Given the description of an element on the screen output the (x, y) to click on. 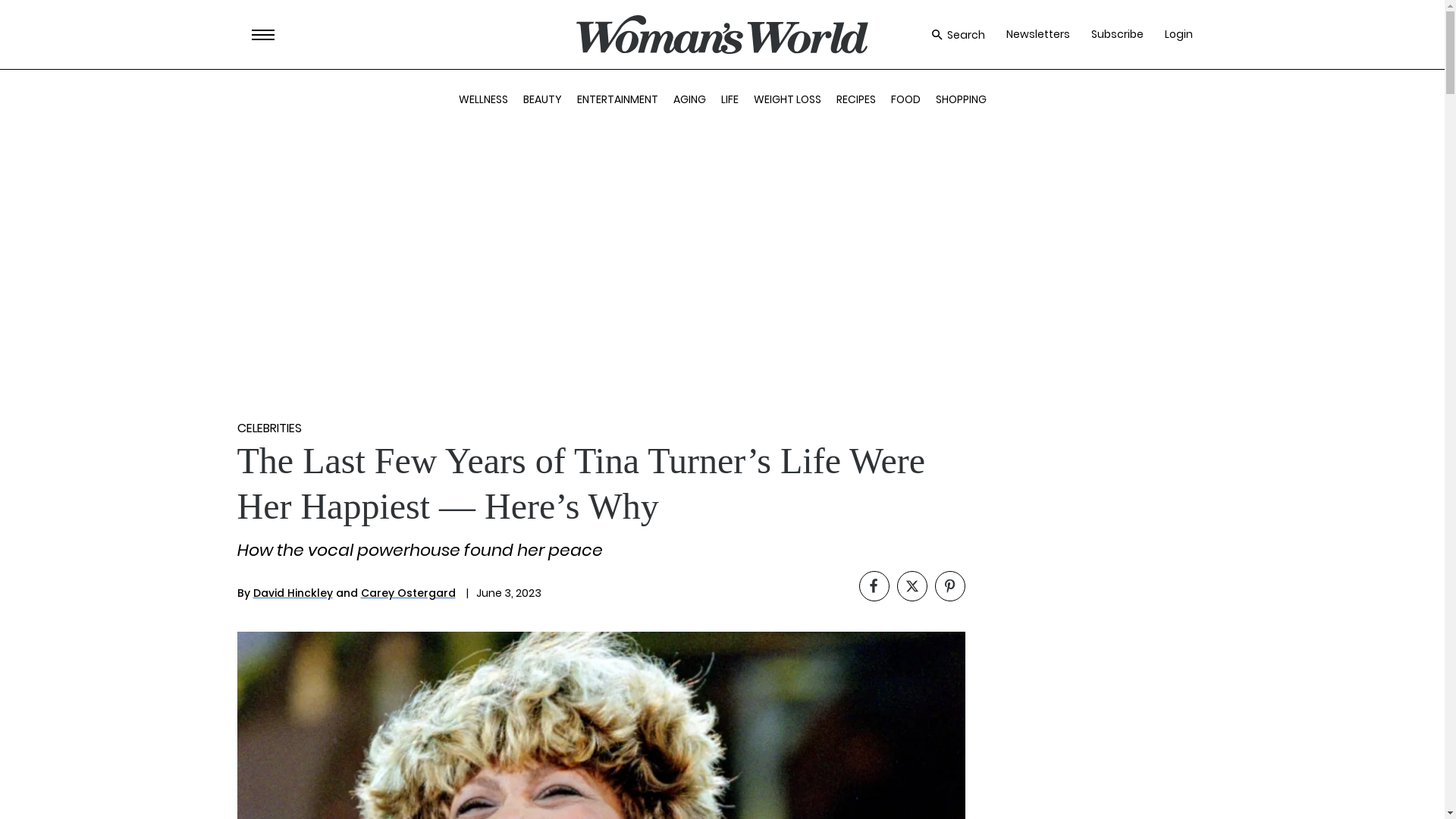
Click to share on Twitter (911, 585)
Click to share on Facebook (873, 585)
Click to share on Pinterest (948, 585)
